Given the description of an element on the screen output the (x, y) to click on. 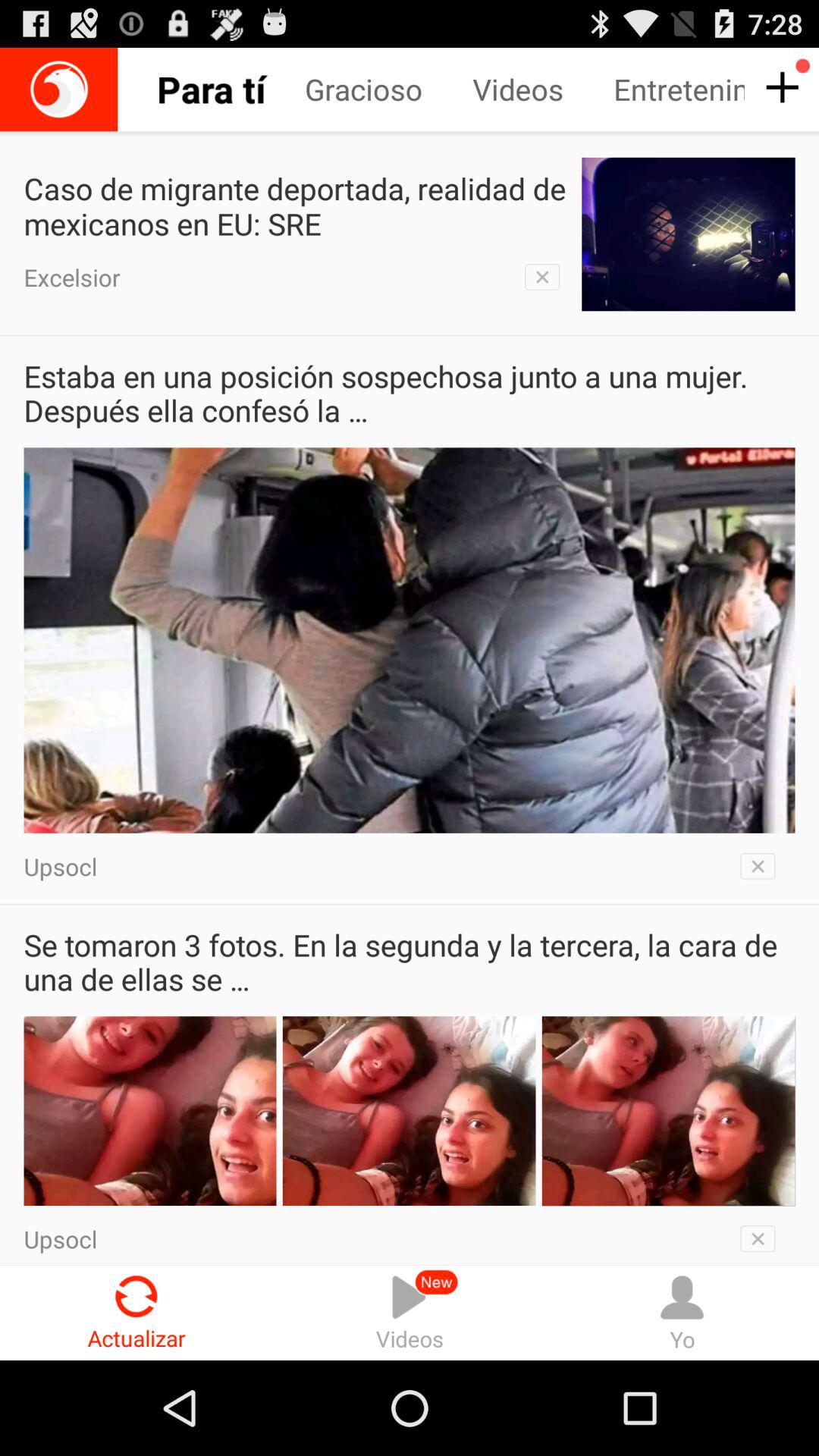
close button (762, 866)
